Given the description of an element on the screen output the (x, y) to click on. 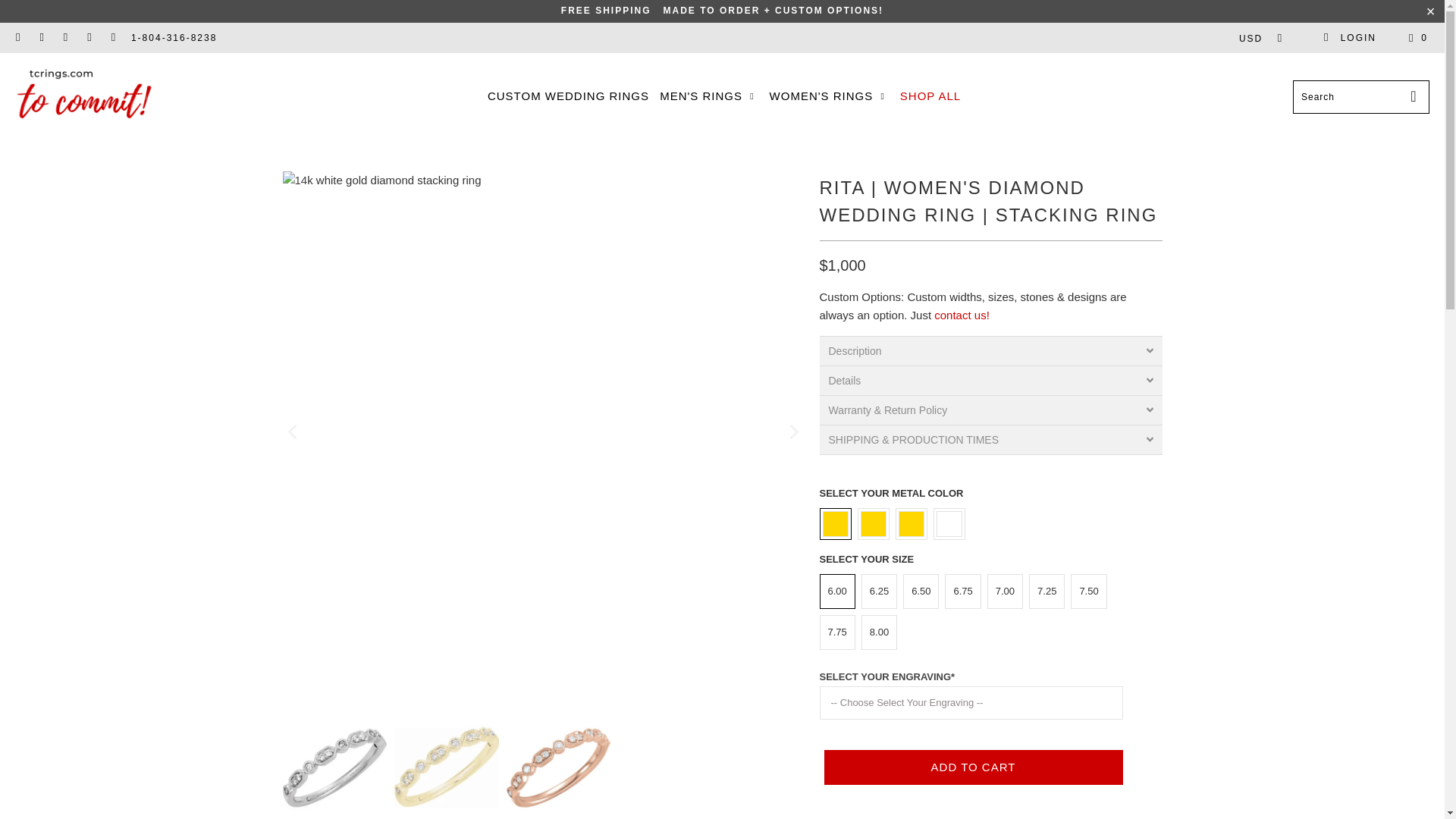
TCR on Instagram (89, 37)
My Account  (1349, 37)
TCR on Twitter (17, 37)
Email TCR (112, 37)
TCR (84, 96)
TCR on Pinterest (65, 37)
TCR on Facebook (41, 37)
